Given the description of an element on the screen output the (x, y) to click on. 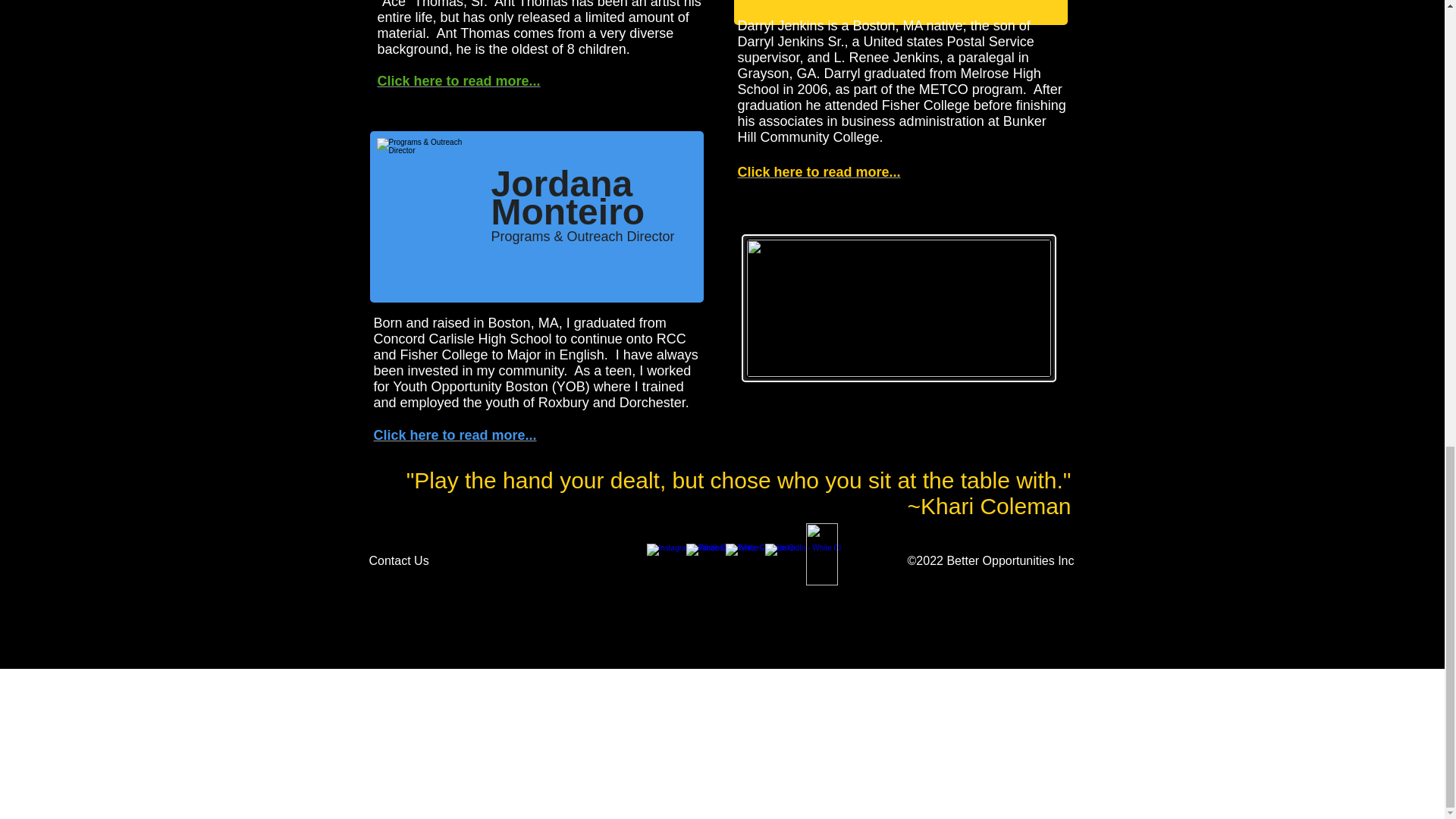
Click here to read more... (453, 435)
Edited Image 2016-07-11 10-15-01 (786, 11)
Click here to read more... (458, 80)
Contact Us       (408, 560)
Click here to read more... (817, 171)
Anthony "Ace" Thomas, Sr. (529, 4)
L4B.jpg (897, 308)
